Given the description of an element on the screen output the (x, y) to click on. 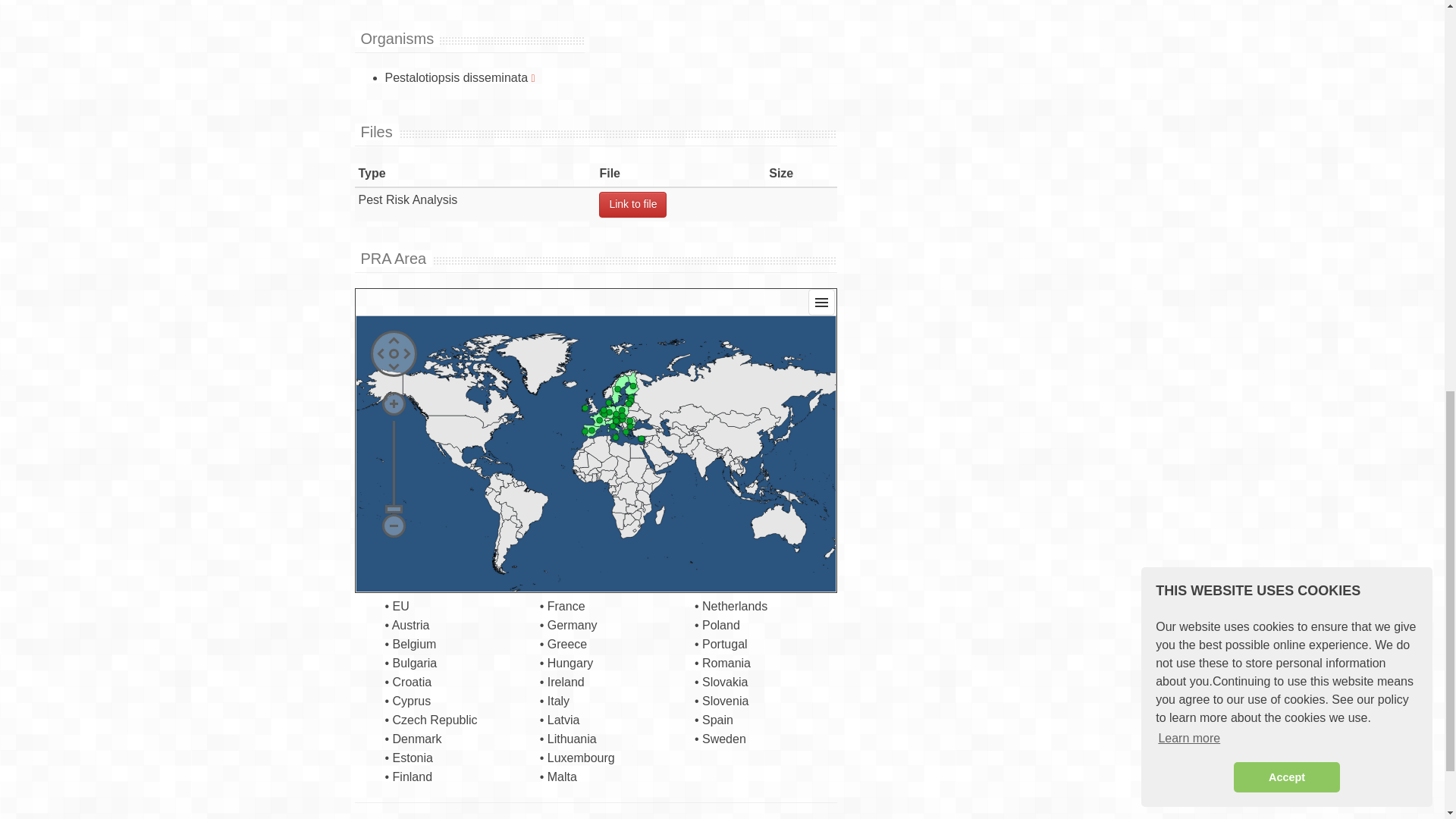
View other PRAs (532, 77)
Link to file (632, 204)
link (632, 204)
